Given the description of an element on the screen output the (x, y) to click on. 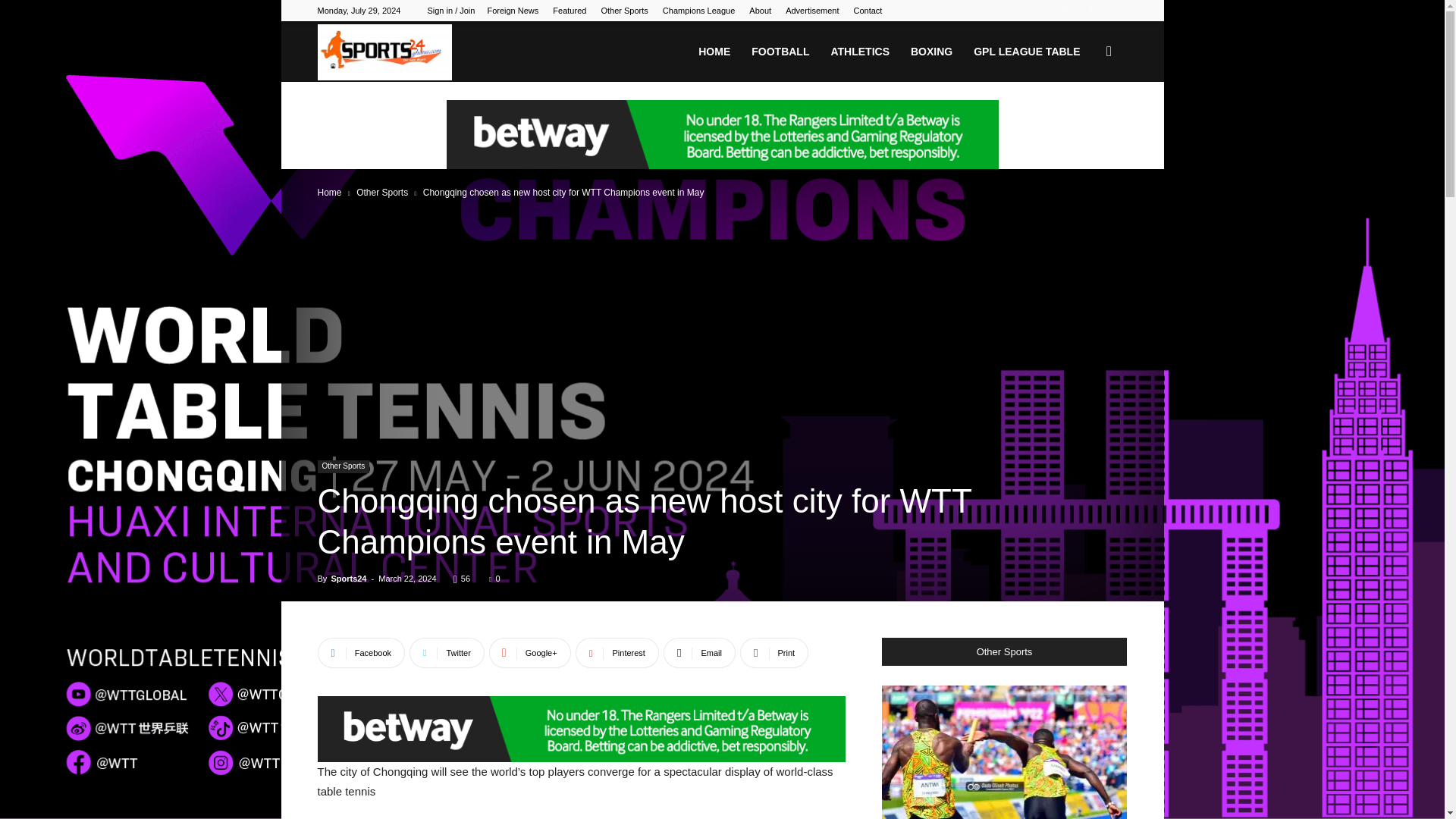
Sports 24 Ghana (384, 52)
Champions League (698, 10)
Instagram (1065, 10)
Linkedin (1090, 10)
View all posts in Other Sports (381, 192)
Featured (569, 10)
Facebook (1040, 10)
FOOTBALL (780, 51)
Contact (867, 10)
Foreign News (512, 10)
BOXING (930, 51)
About (760, 10)
Advertisement (812, 10)
Sports 24 Ghana (384, 51)
Twitter (1114, 10)
